Given the description of an element on the screen output the (x, y) to click on. 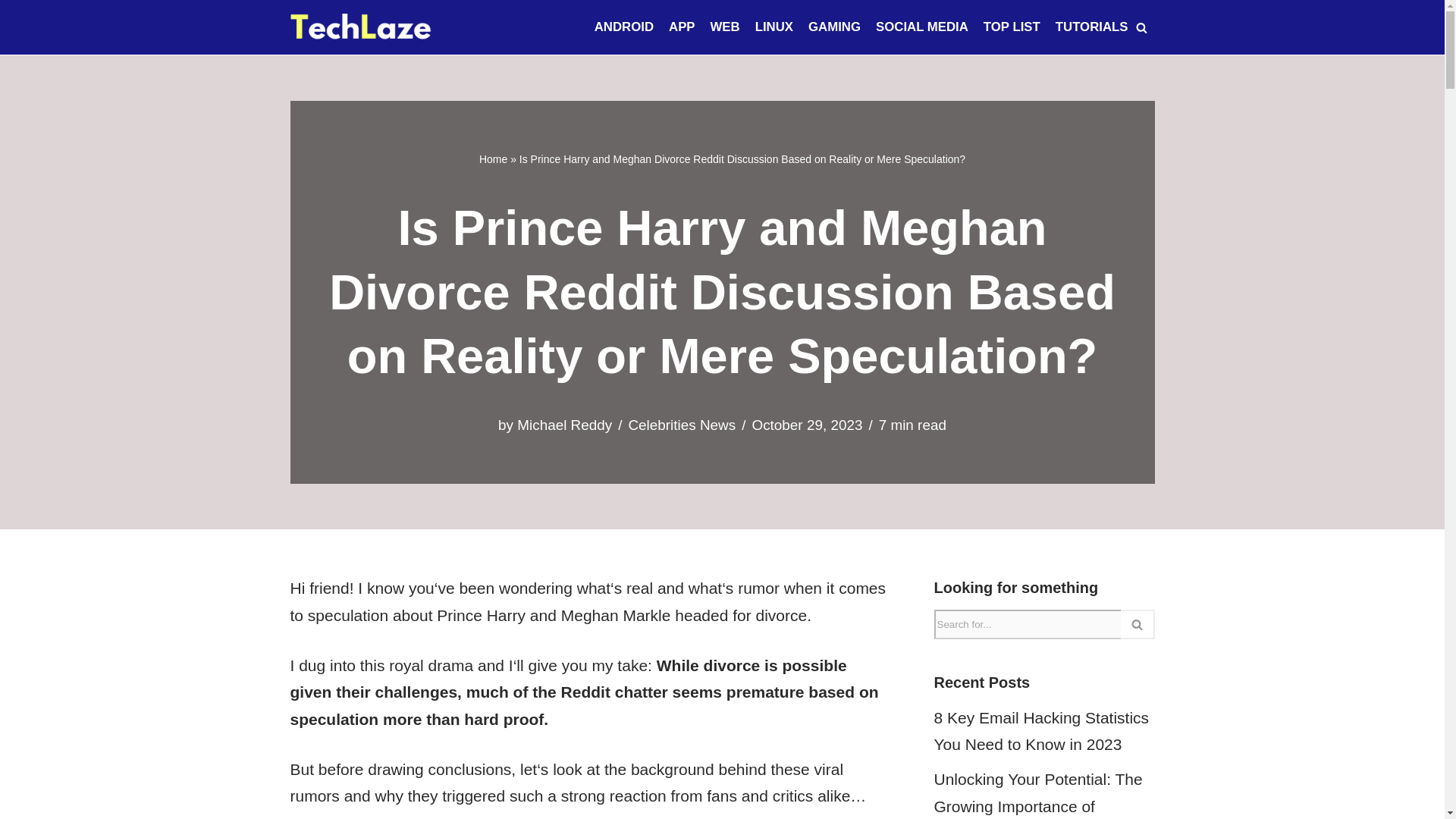
TUTORIALS (1091, 27)
Home (492, 159)
Skip to content (11, 31)
ANDROID (623, 27)
Michael Reddy (563, 424)
Posts by Michael Reddy (563, 424)
WEB (724, 27)
TechLaze (359, 26)
APP (681, 27)
SOCIAL MEDIA (922, 27)
Celebrities News (681, 424)
TOP LIST (1012, 27)
GAMING (834, 27)
LINUX (774, 27)
